Given the description of an element on the screen output the (x, y) to click on. 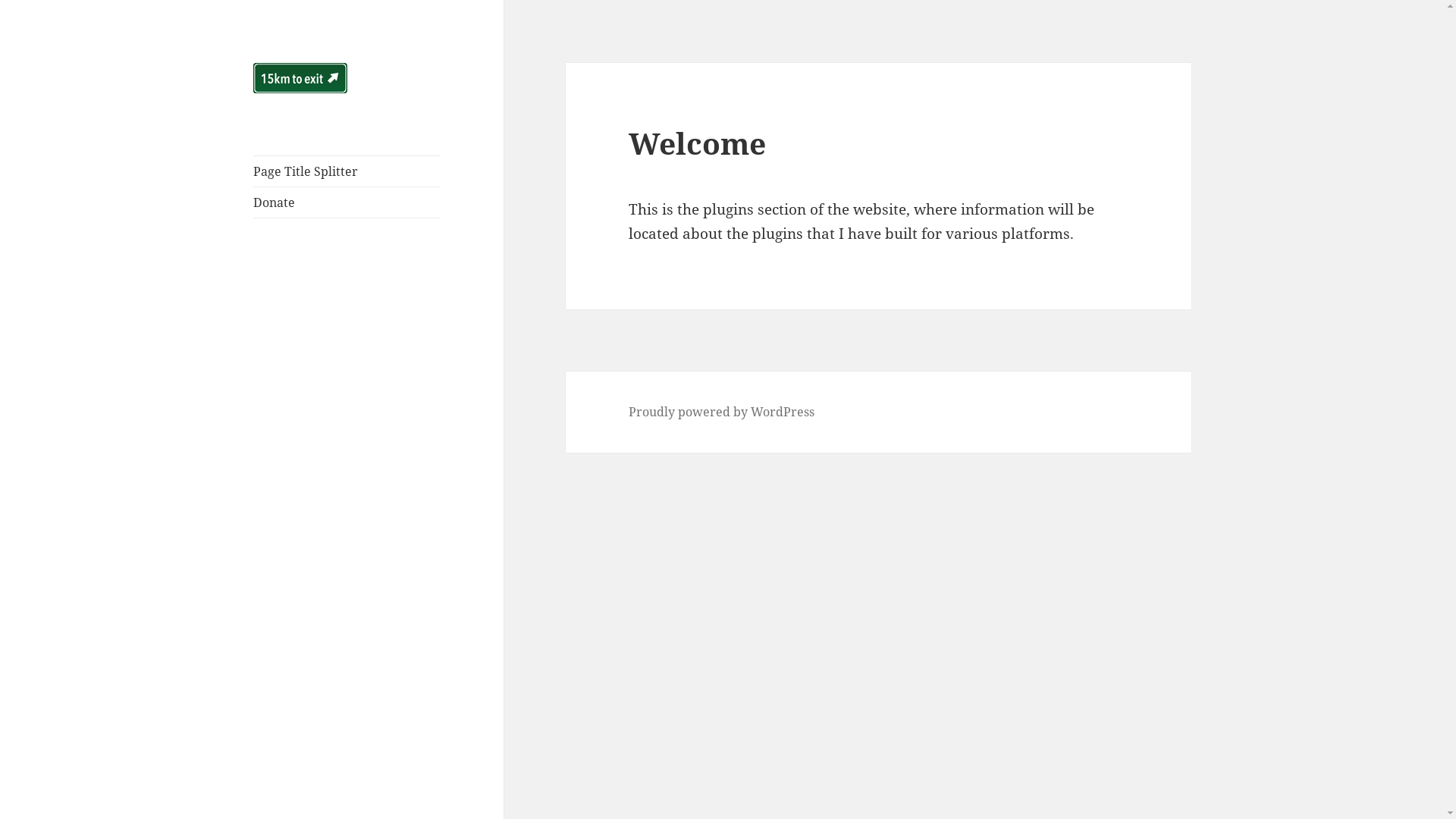
Page Title Splitter Element type: text (347, 171)
Proudly powered by WordPress Element type: text (721, 411)
Donate Element type: text (347, 202)
